Given the description of an element on the screen output the (x, y) to click on. 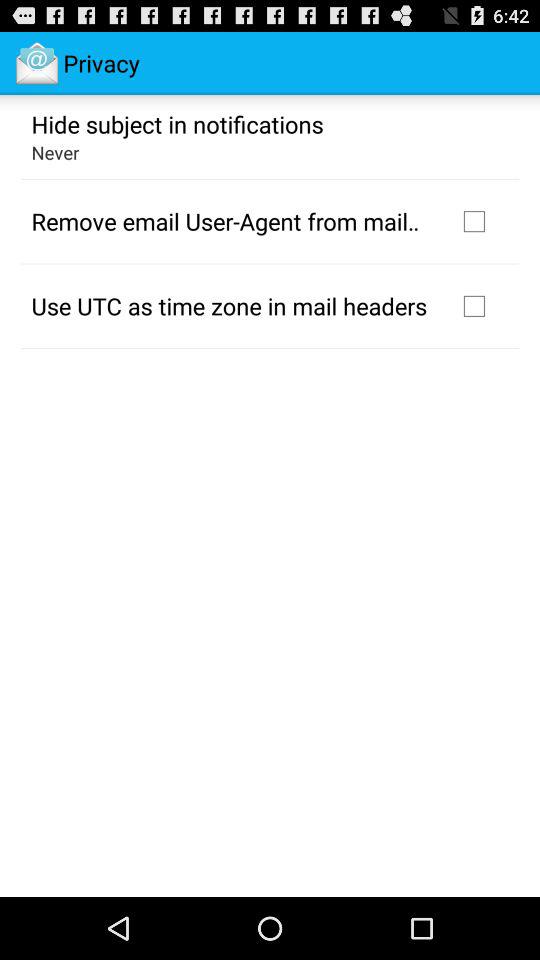
open item below never app (231, 221)
